Given the description of an element on the screen output the (x, y) to click on. 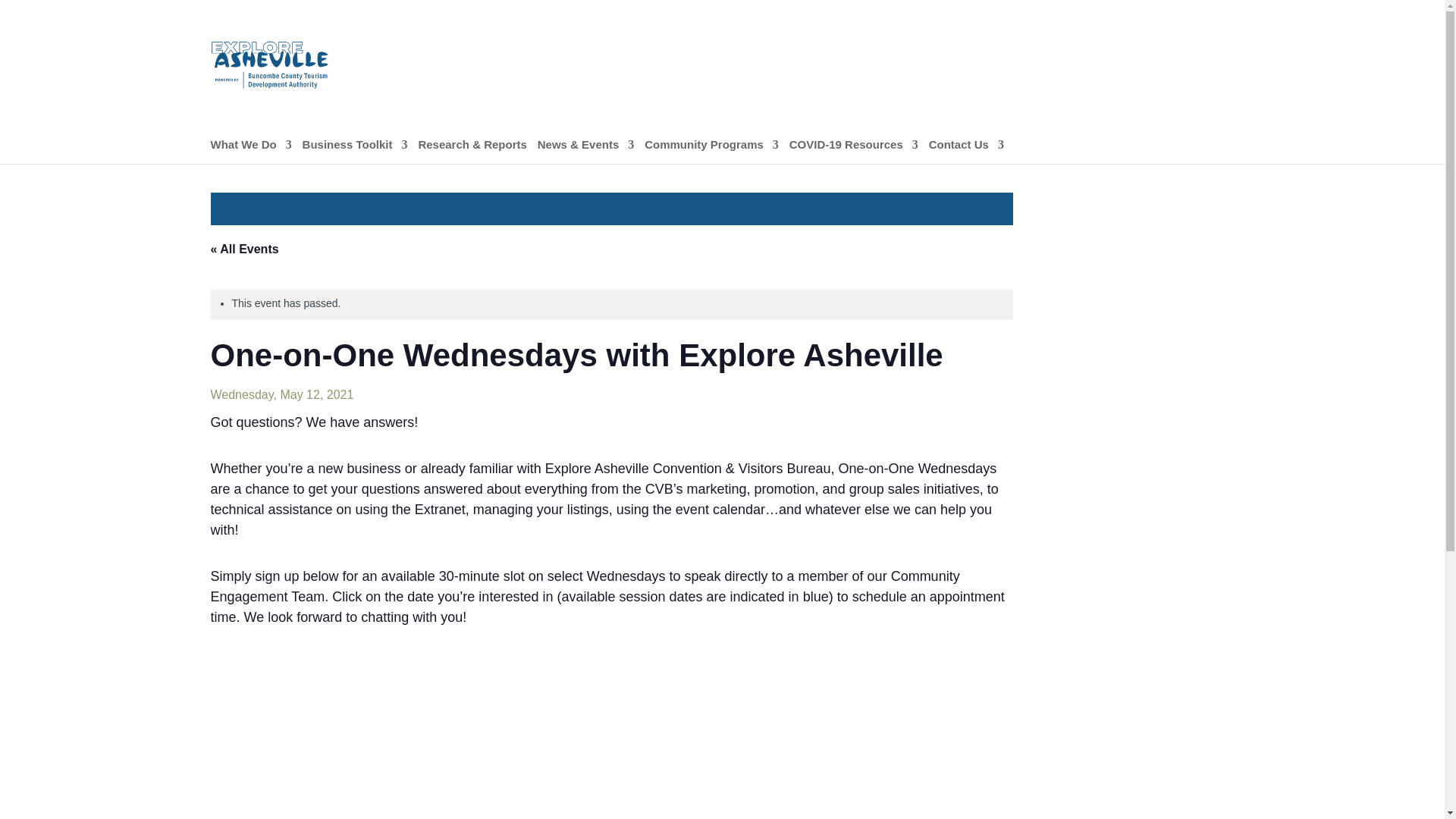
Partner Login (1197, 47)
Community Programs (711, 151)
Visitor Information (1096, 47)
What We Do (251, 151)
About Buncombe County TDA (948, 47)
Business Toolkit (354, 151)
COVID-19 Resources (853, 151)
